Given the description of an element on the screen output the (x, y) to click on. 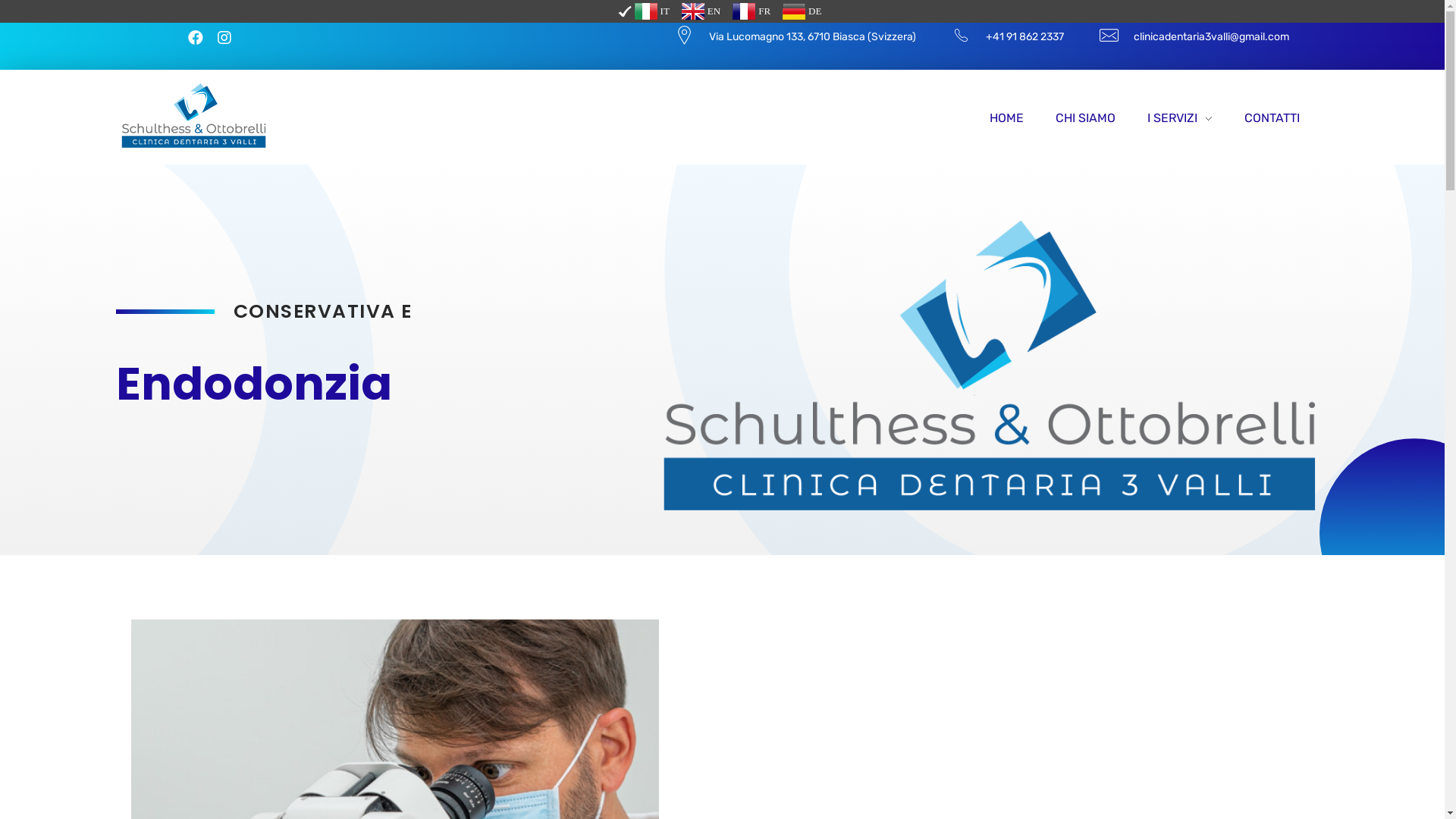
FR Element type: text (751, 11)
IT Element type: text (646, 11)
HOME Element type: text (1014, 118)
EN Element type: text (700, 11)
I SERVIZI Element type: text (1179, 118)
CONTATTI Element type: text (1263, 118)
DE Element type: text (801, 11)
CHI SIAMO Element type: text (1085, 118)
Clinica Dentaria 3 Valli Element type: hover (192, 114)
Clinica Dentaria 3 Valli Element type: text (212, 156)
